Given the description of an element on the screen output the (x, y) to click on. 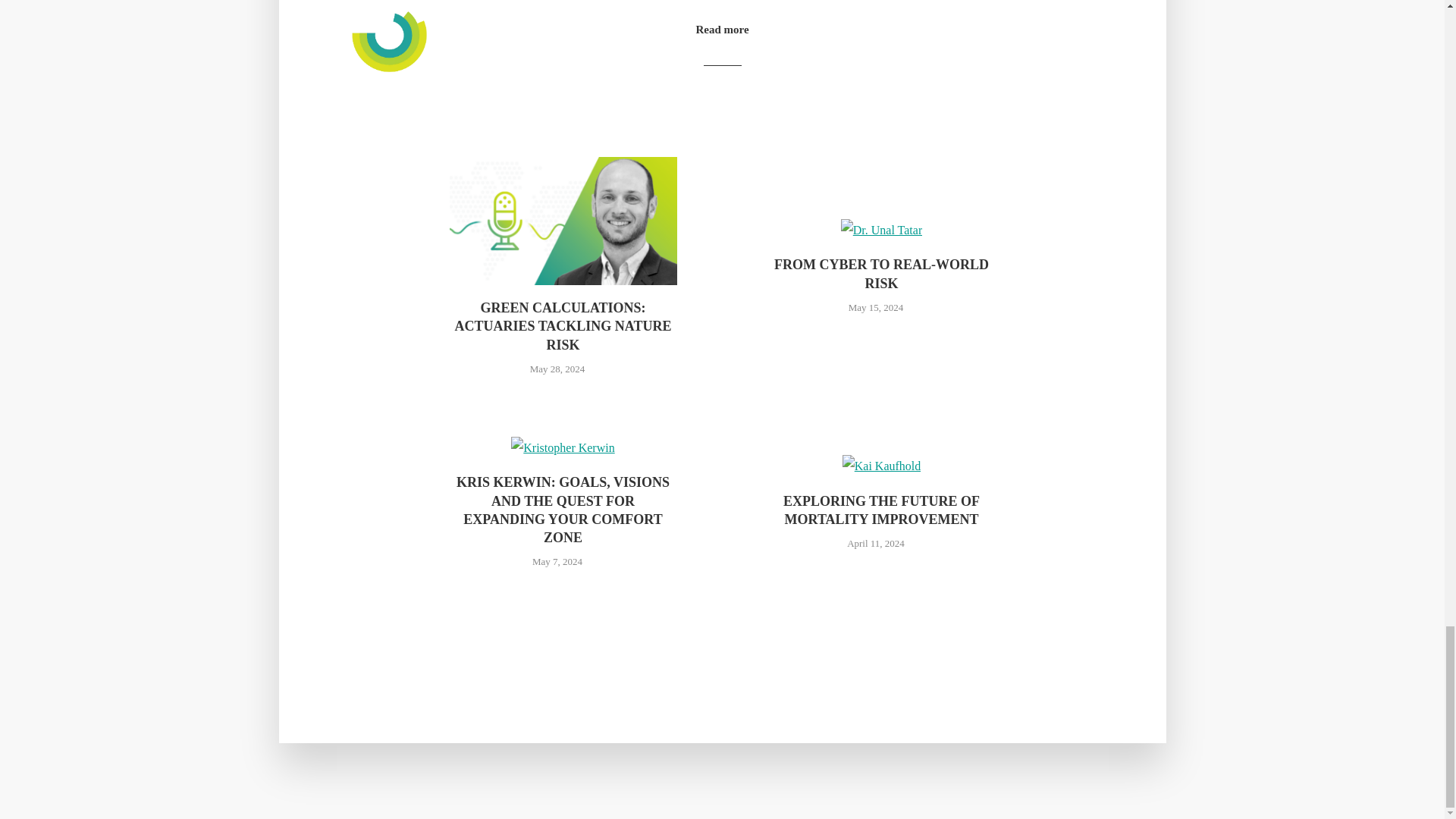
EXPLORING THE FUTURE OF MORTALITY IMPROVEMENT (880, 510)
FROM CYBER TO REAL-WORLD RISK (880, 273)
GREEN CALCULATIONS: ACTUARIES TACKLING NATURE RISK (562, 325)
